Given the description of an element on the screen output the (x, y) to click on. 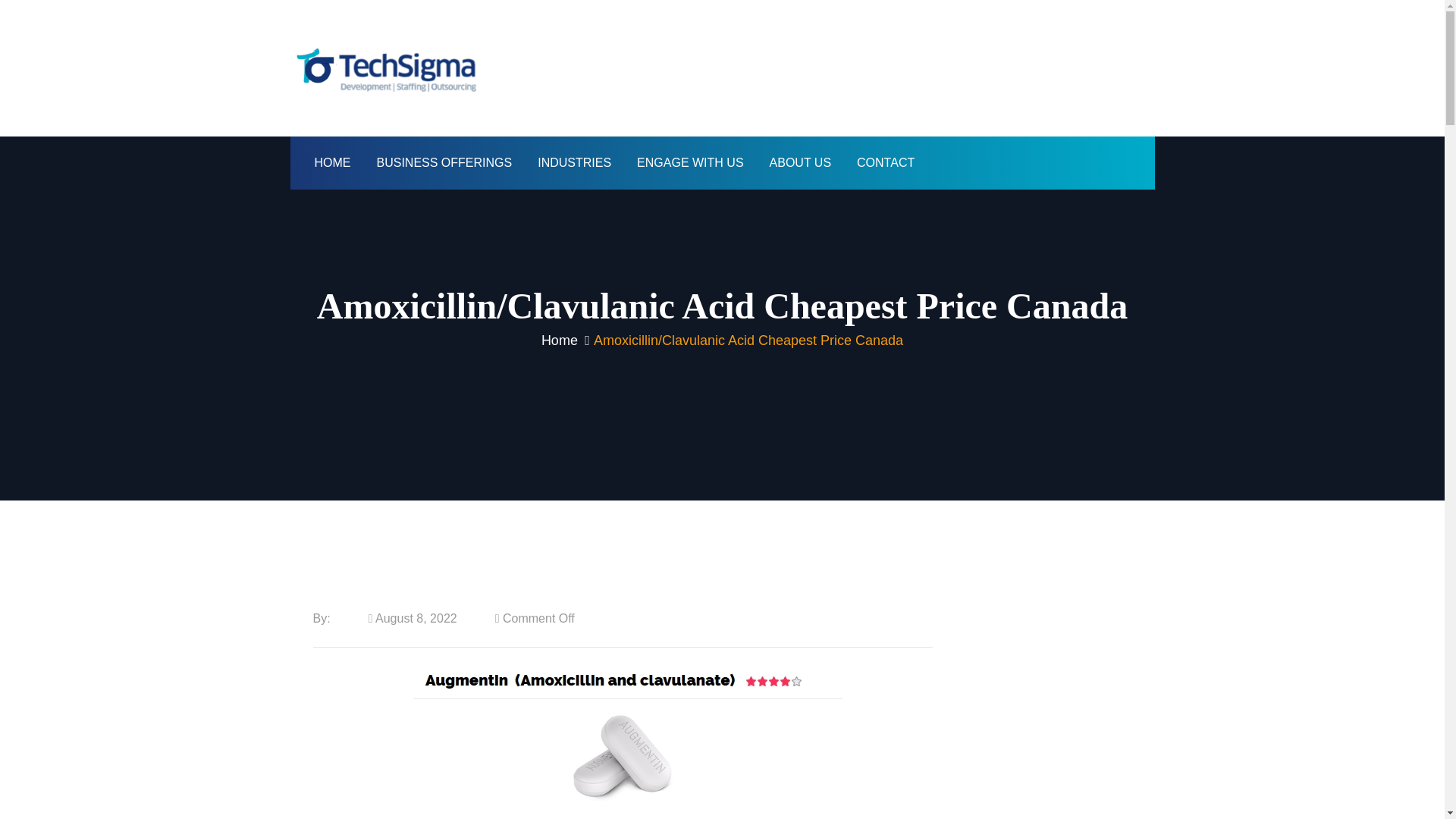
INDUSTRIES (574, 162)
Business Offerings (444, 162)
CONTACT (885, 162)
By: (321, 617)
Home (559, 339)
Engage With Us (689, 162)
Comment Off (535, 617)
About Us (800, 162)
August 8, 2022 (412, 617)
BUSINESS OFFERINGS (444, 162)
Contact (885, 162)
HOME (332, 162)
ENGAGE WITH US (689, 162)
Industries (574, 162)
ABOUT US (800, 162)
